Given the description of an element on the screen output the (x, y) to click on. 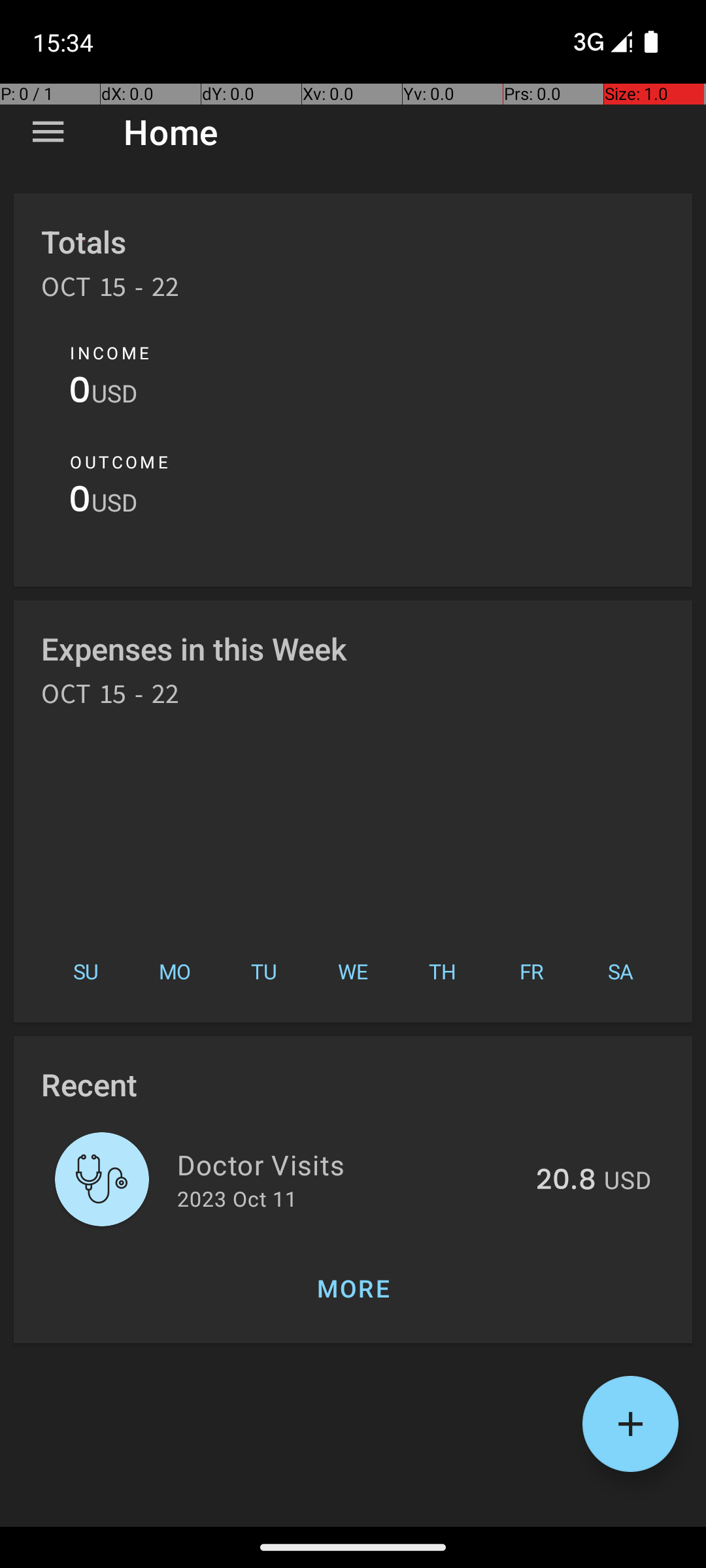
20.8 Element type: android.widget.TextView (565, 1180)
